Given the description of an element on the screen output the (x, y) to click on. 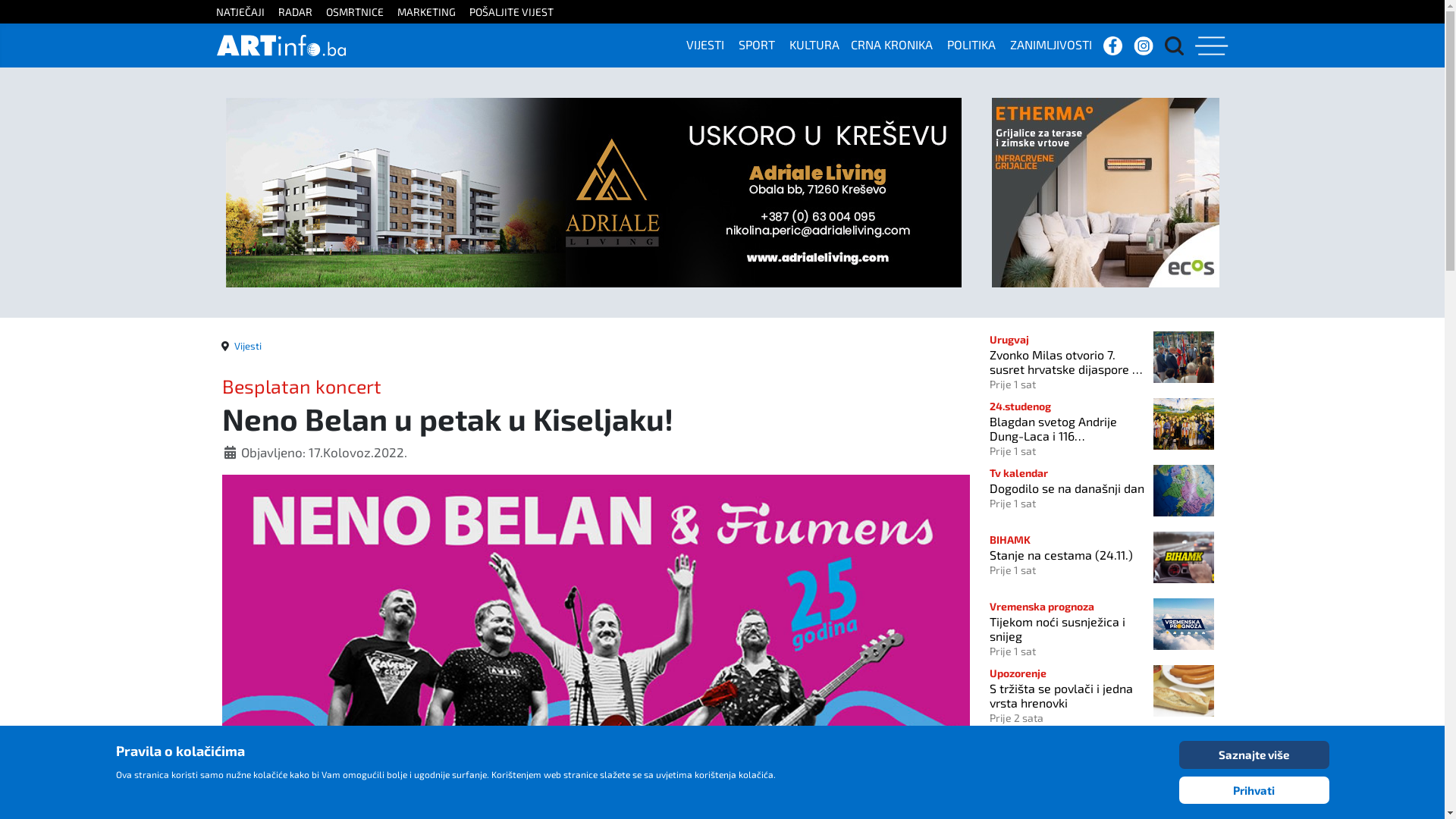
KULTURA Element type: text (819, 44)
Otkazan sastanak Trojke i HDZ-a u Sarajevu Element type: text (1066, 745)
SPORT Element type: text (762, 44)
CRNA KRONIKA Element type: text (897, 44)
POLITIKA Element type: text (977, 44)
Stanje na cestama (24.11.) Element type: text (1066, 554)
adriale zgrada 970 Element type: hover (593, 190)
VIJESTI Element type: text (710, 44)
ZANIMLJIVOSTI Element type: text (1056, 44)
Vijesti Element type: text (246, 345)
MARKETING Element type: text (432, 11)
RADAR Element type: text (300, 11)
OSMRTNICE Element type: text (360, 11)
Prihvati Element type: text (1253, 790)
